Given the description of an element on the screen output the (x, y) to click on. 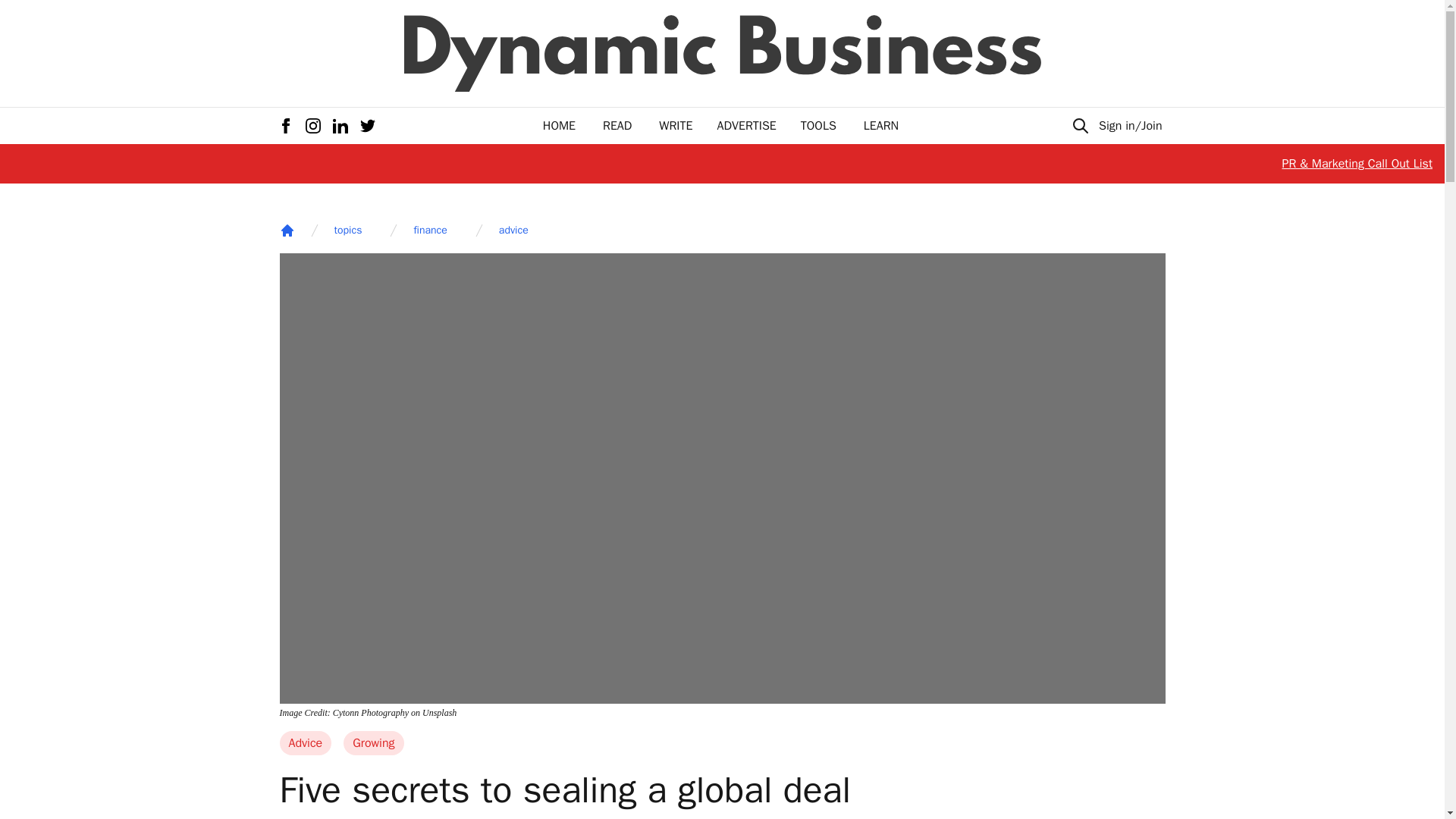
WRITE (676, 126)
HOME (559, 126)
LEARN (880, 126)
Home (286, 230)
finance (429, 230)
Growing (373, 743)
topics (347, 230)
READ (616, 126)
advice (513, 230)
ADVERTISE (746, 126)
